Given the description of an element on the screen output the (x, y) to click on. 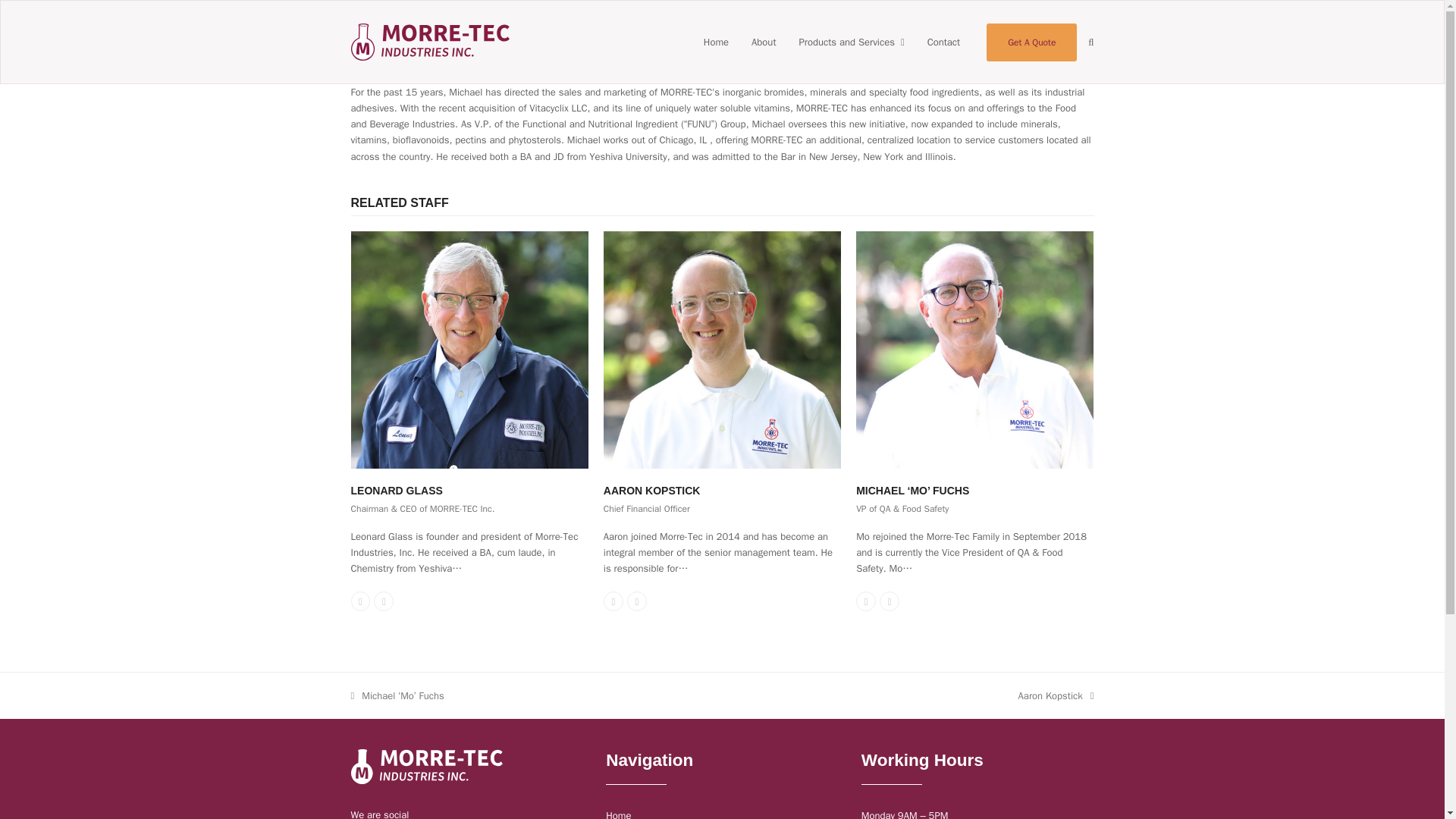
Email (889, 600)
LEONARD GLASS (396, 490)
Phone Number (613, 600)
About (763, 41)
AARON KOPSTICK (652, 490)
Products and Services (851, 41)
Home (617, 813)
Home (716, 41)
Get A Quote (1031, 41)
Leonard Glass (469, 349)
Aaron Kopstick (722, 349)
Contact (943, 41)
Phone Number (359, 600)
Phone Number (866, 600)
Email (383, 600)
